Given the description of an element on the screen output the (x, y) to click on. 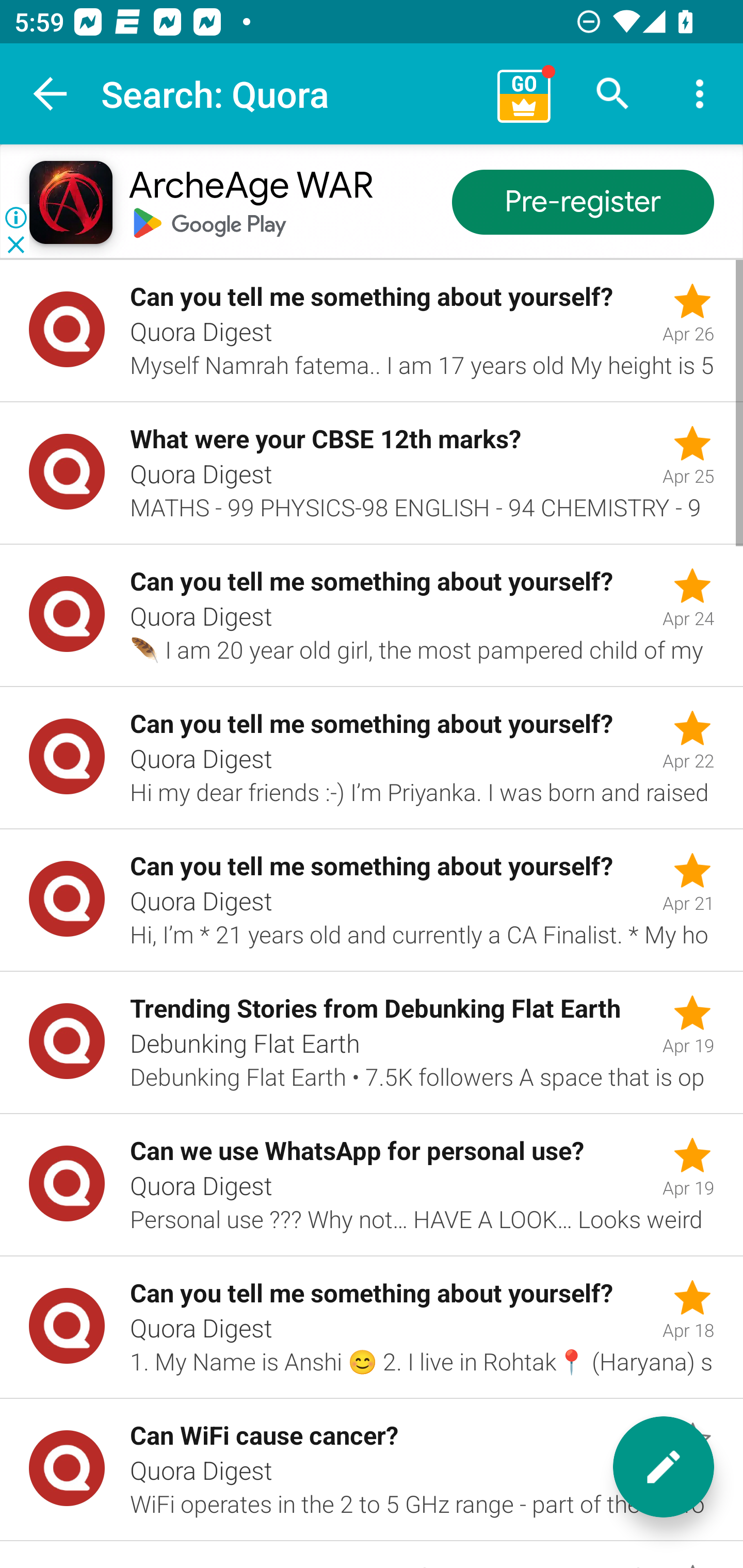
Navigate up (50, 93)
Search (612, 93)
More options (699, 93)
ArcheAge WAR (250, 186)
Pre-register (582, 202)
New message (663, 1466)
